Given the description of an element on the screen output the (x, y) to click on. 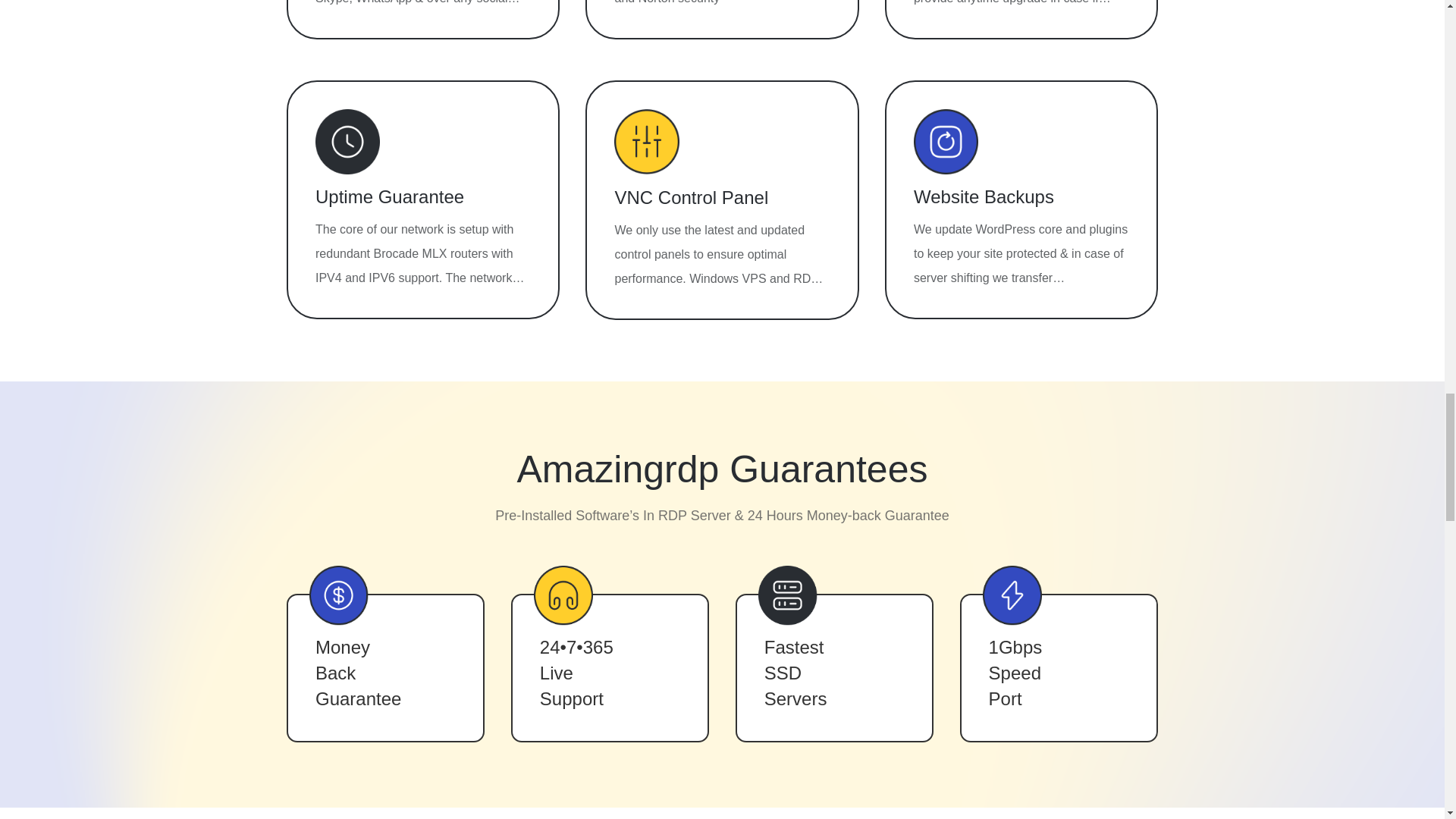
Group 2 (563, 595)
Group 4 (1012, 595)
Group 3 (787, 594)
Icon (946, 140)
Icon-5 (646, 141)
Icon-3 (347, 140)
